Given the description of an element on the screen output the (x, y) to click on. 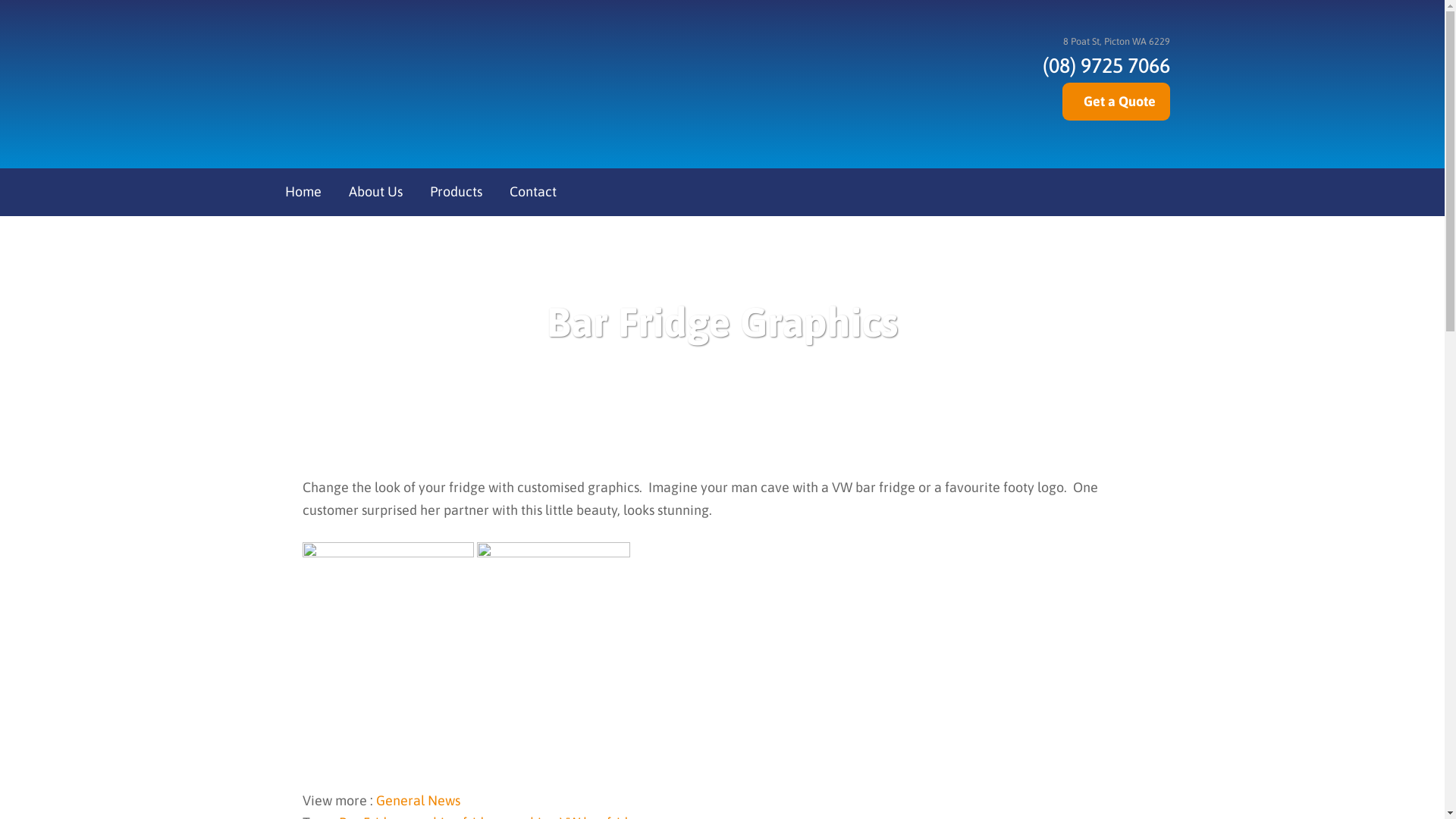
Contact Element type: text (532, 192)
General News Element type: text (418, 800)
Products Element type: text (456, 192)
Home Element type: text (302, 192)
(08) 9725 7066 Element type: text (1101, 65)
Get a Quote Element type: text (1115, 100)
About Us Element type: text (375, 192)
